Given the description of an element on the screen output the (x, y) to click on. 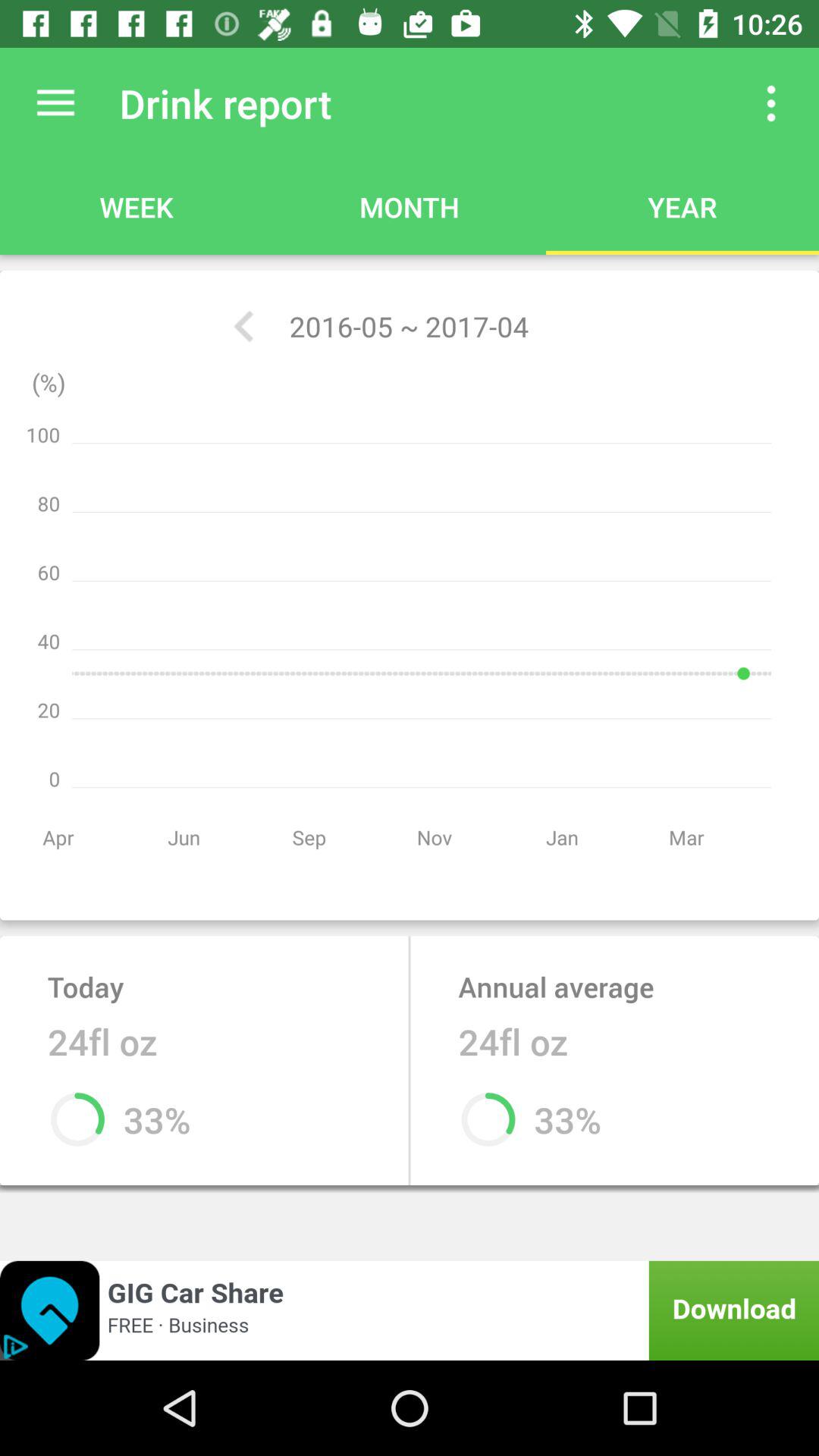
open up menu (771, 103)
